Given the description of an element on the screen output the (x, y) to click on. 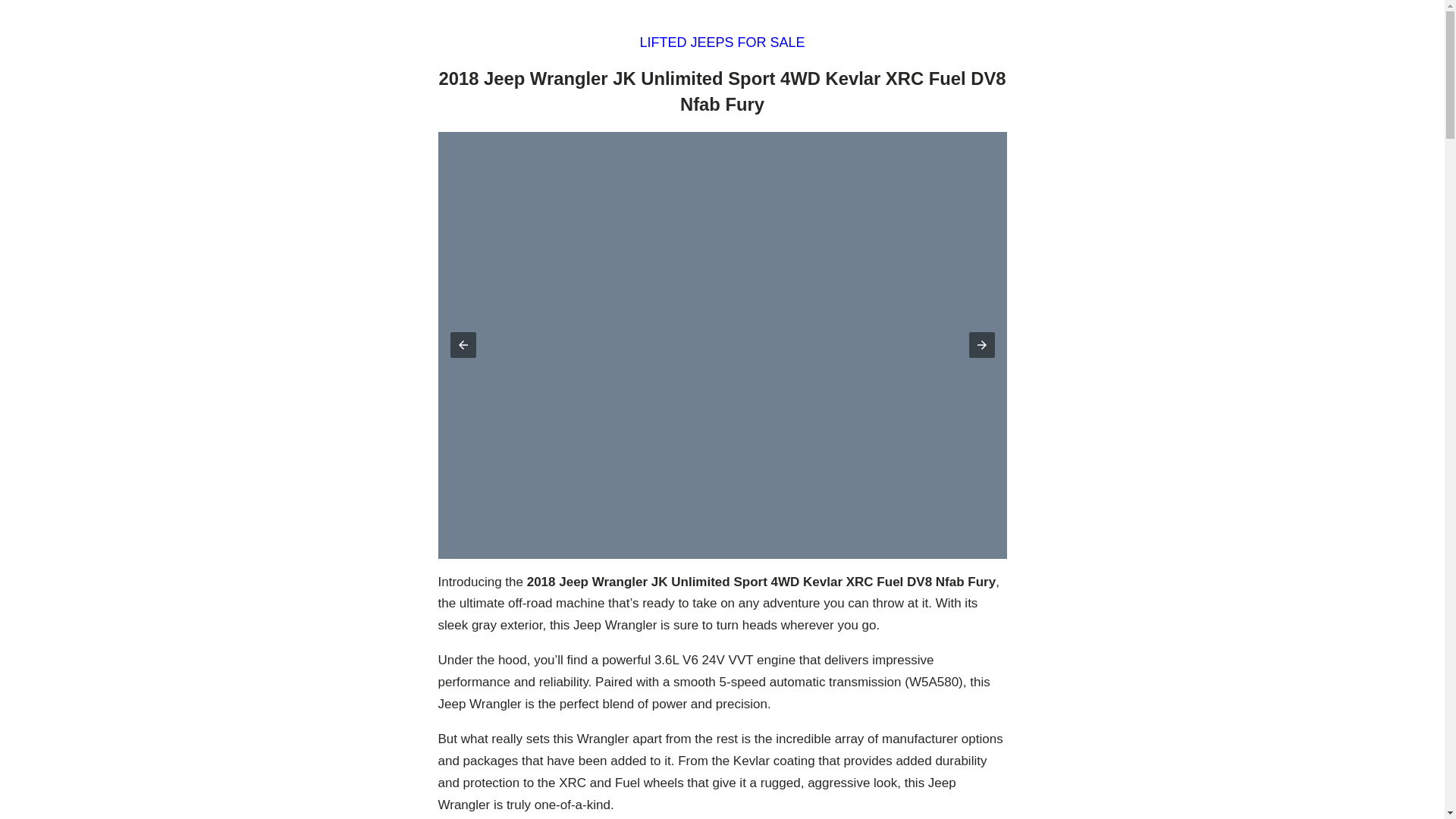
LIFTED JEEPS FOR SALE (722, 42)
